Given the description of an element on the screen output the (x, y) to click on. 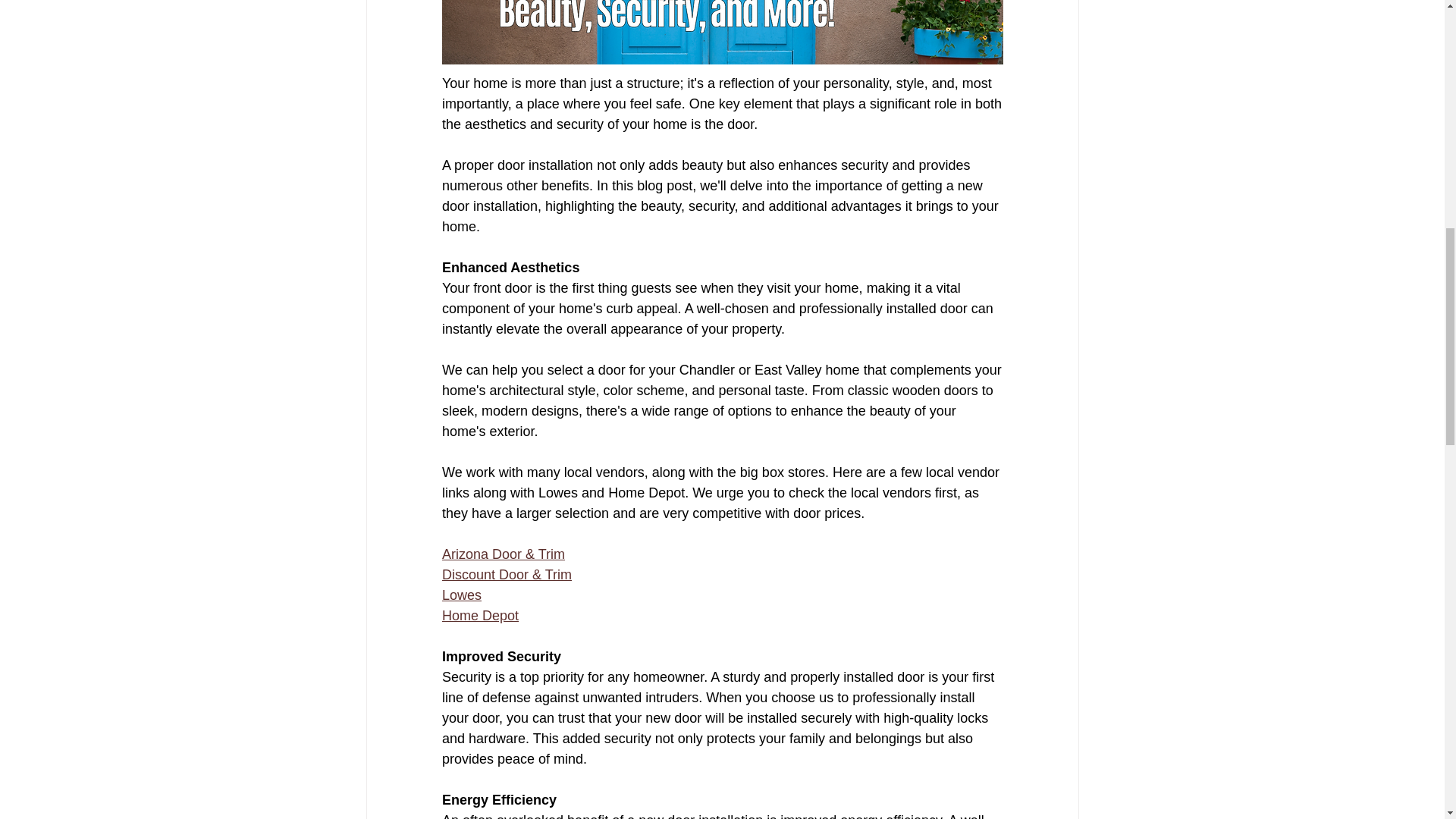
Home Depot (479, 615)
Lowes (460, 595)
